Given the description of an element on the screen output the (x, y) to click on. 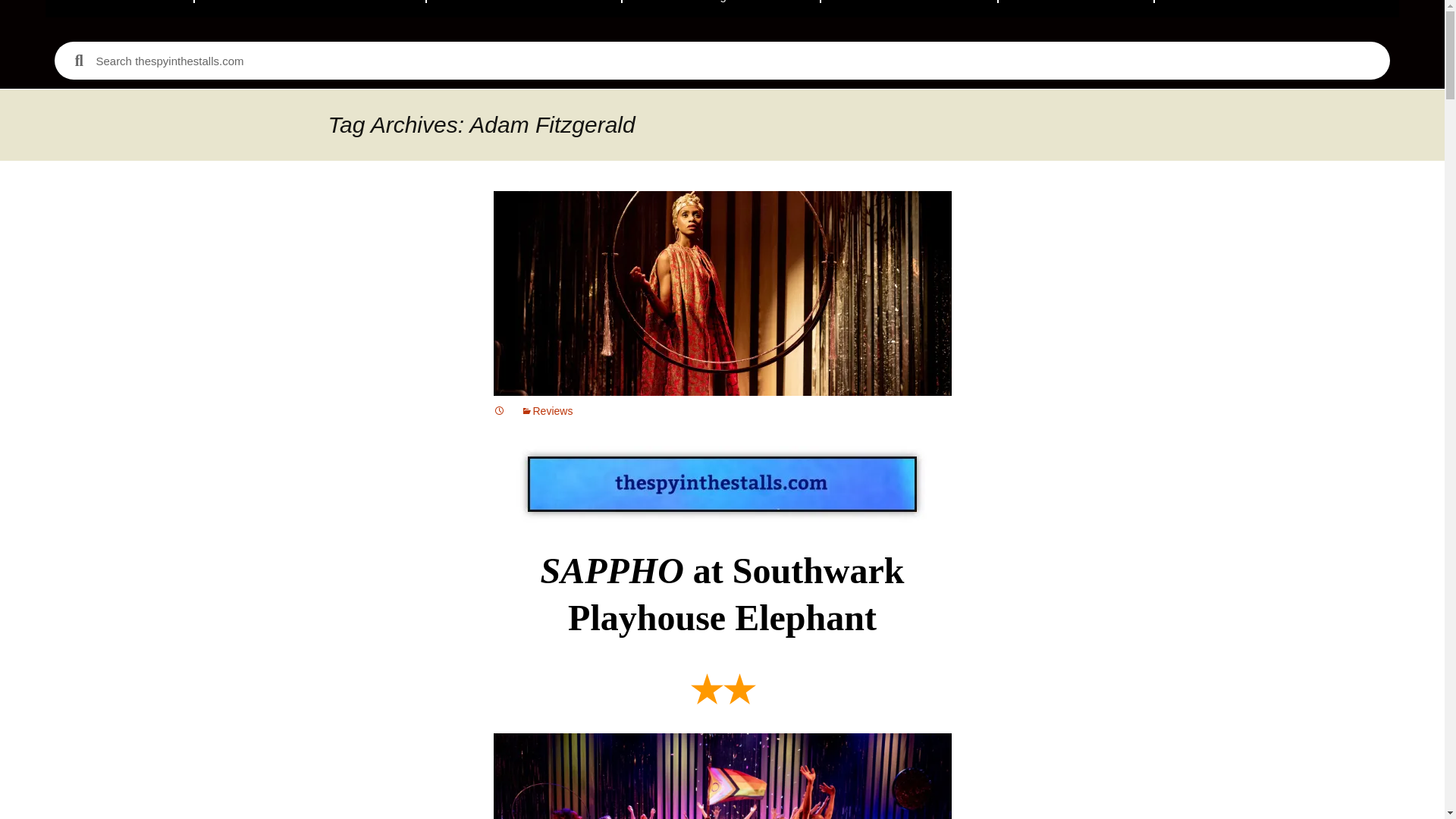
Home (119, 8)
Show Index (909, 8)
Latest Reviews (523, 8)
Archive (1075, 8)
Edinburgh 2024 (721, 8)
Recommended Shows (310, 8)
